Given the description of an element on the screen output the (x, y) to click on. 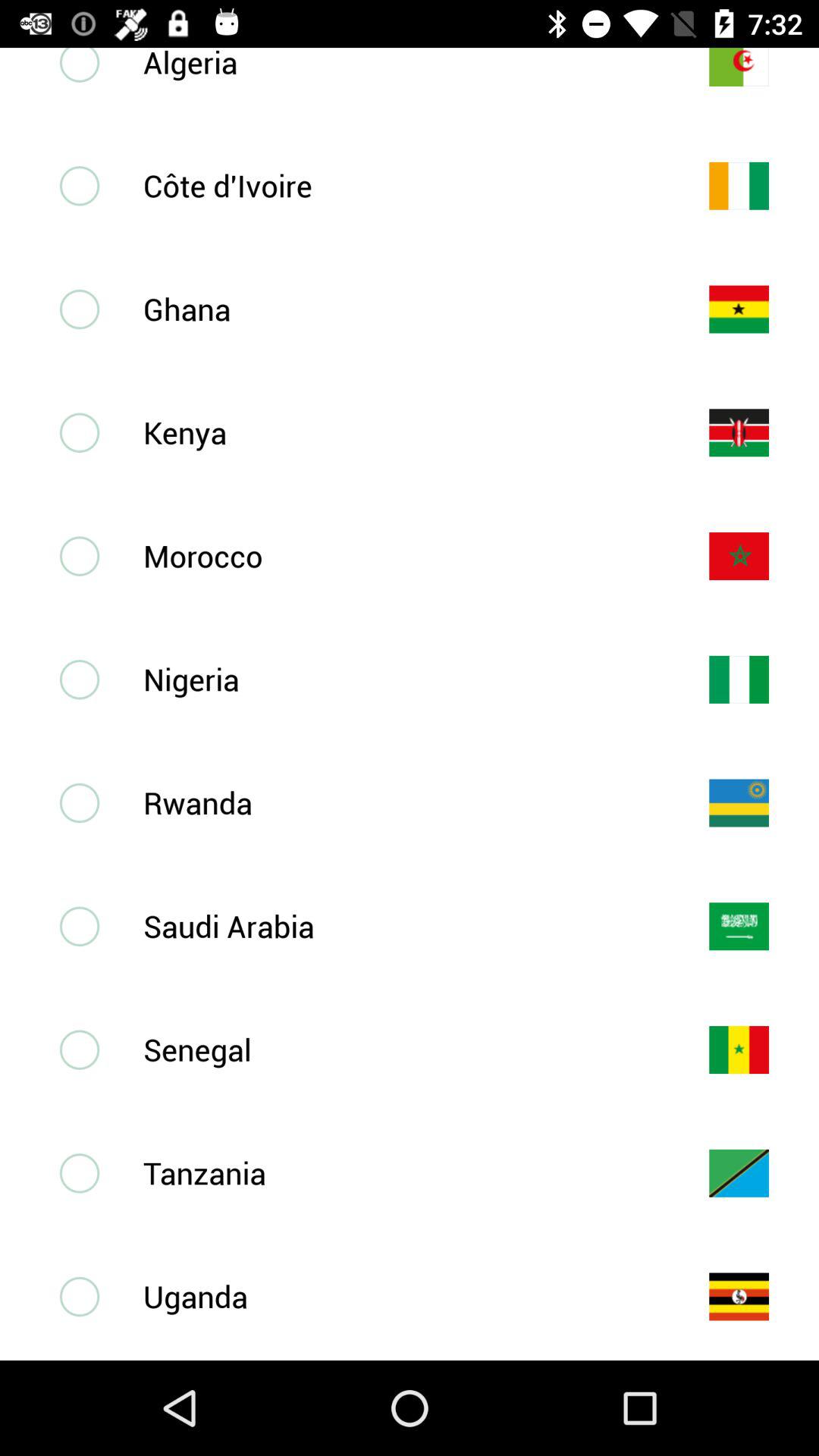
click algeria icon (401, 64)
